Given the description of an element on the screen output the (x, y) to click on. 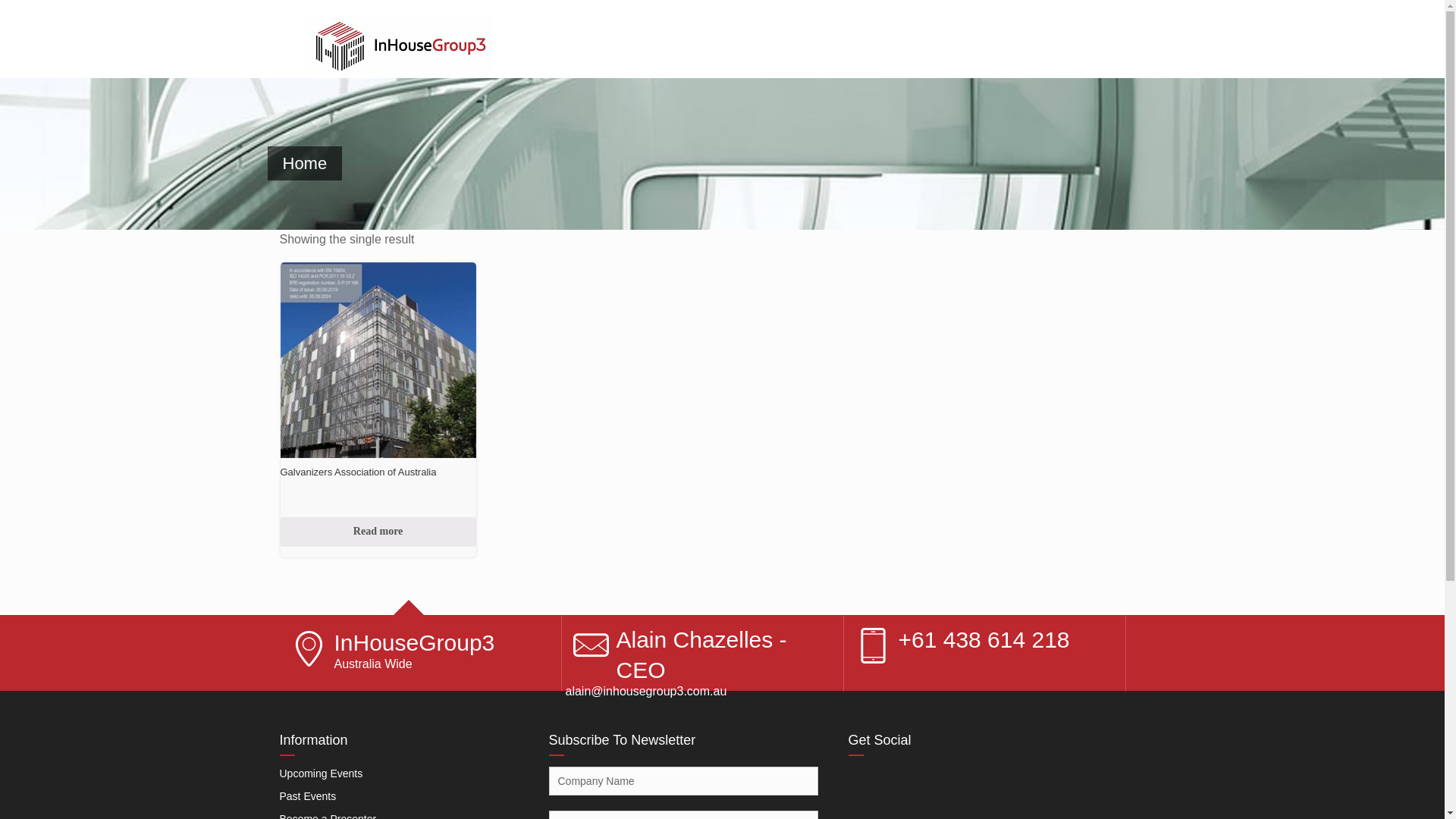
Past Events Element type: text (307, 796)
Upcoming Events Element type: text (320, 773)
Read more Element type: text (378, 531)
Home Element type: text (304, 162)
Galvanizers Association of Australia Element type: text (378, 399)
